Given the description of an element on the screen output the (x, y) to click on. 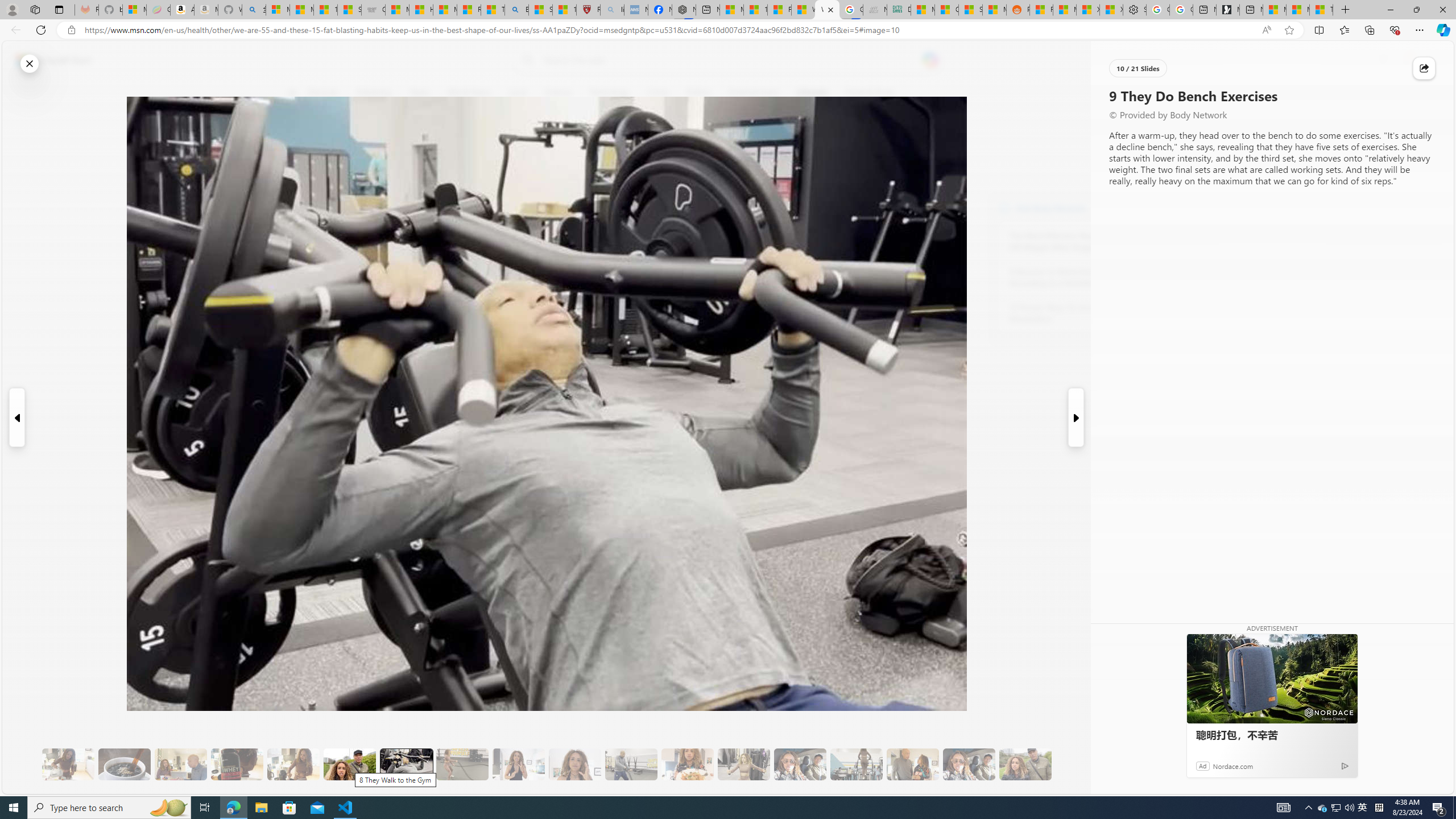
World News (468, 92)
8 Reasons to Drink Kombucha, According to a Nutritionist (1071, 277)
15 They Also Indulge in a Low-Calorie Sweet Treat (743, 764)
Start the conversation (299, 202)
R******* | Trusted Community Engagement and Contributions (1041, 9)
Lifestyle (812, 92)
